Given the description of an element on the screen output the (x, y) to click on. 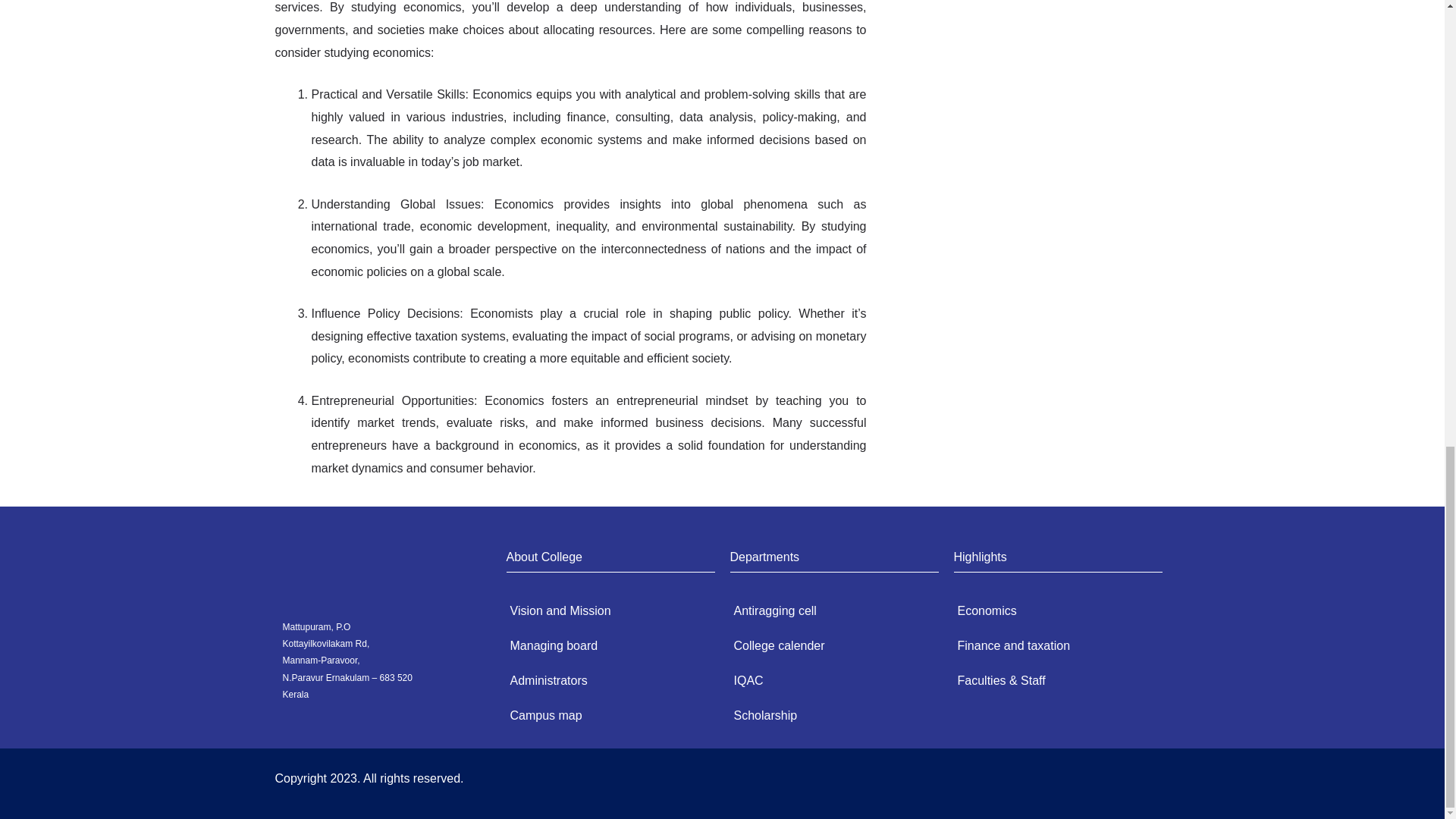
Administrators (604, 680)
Campus map (604, 715)
Managing board (604, 645)
Vision and Mission (604, 610)
